Given the description of an element on the screen output the (x, y) to click on. 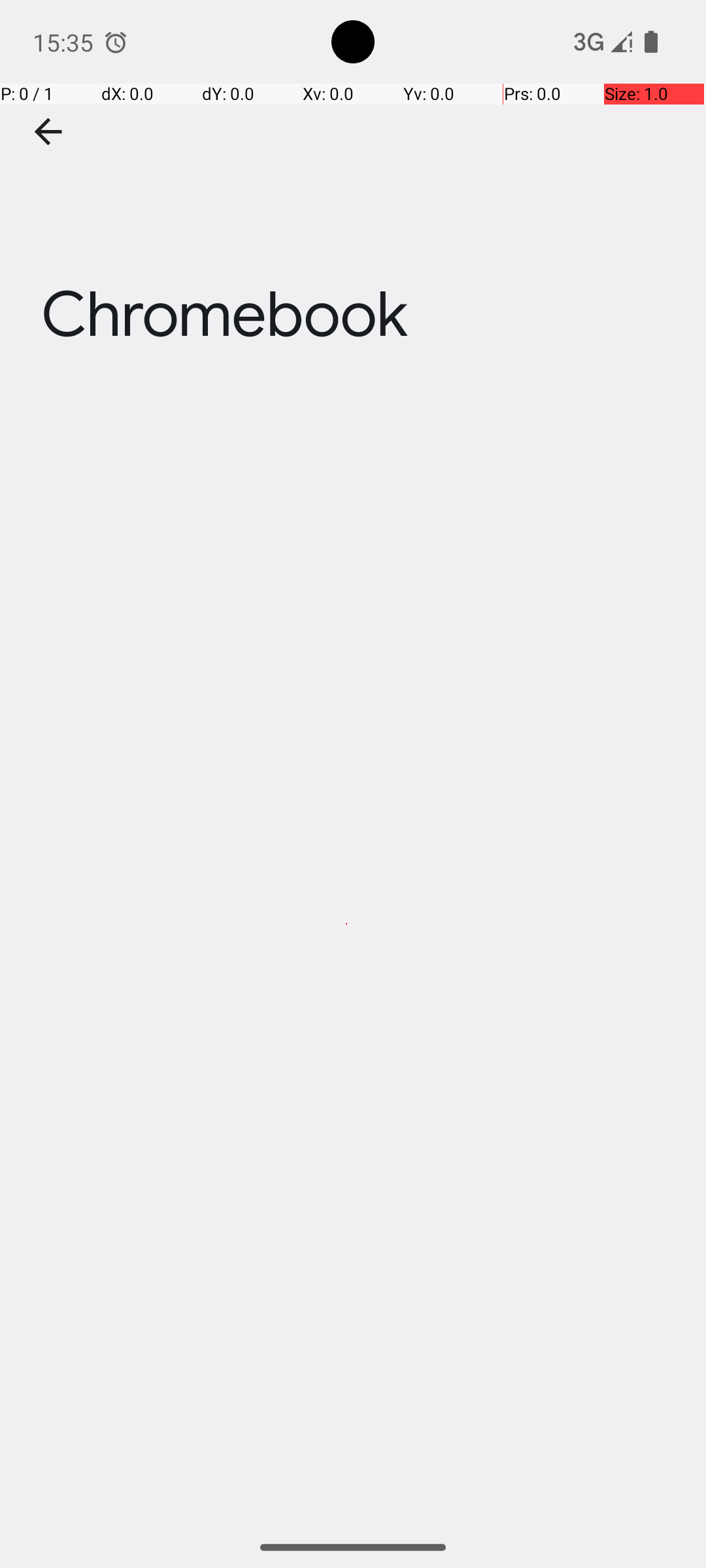
Chromebook Element type: android.widget.FrameLayout (353, 195)
